Given the description of an element on the screen output the (x, y) to click on. 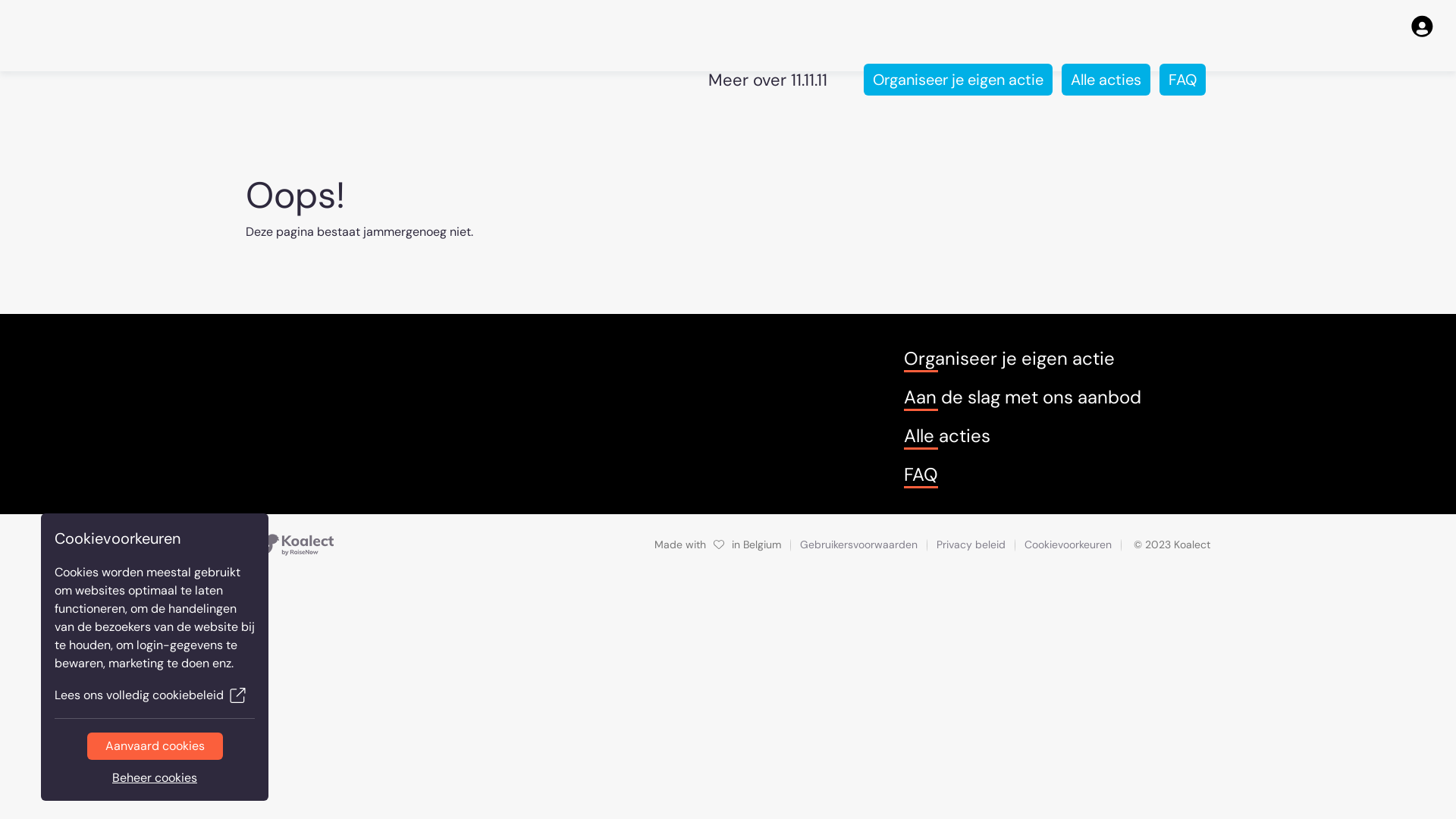
Gebruikersvoorwaarden Element type: text (858, 544)
Organiseer je eigen actie Element type: text (957, 79)
Privacy beleid Element type: text (970, 544)
Organiseer je eigen actie Element type: text (1008, 358)
FAQ Element type: text (1182, 79)
Meer over 11.11.11 Element type: text (767, 79)
Beheer cookies Element type: text (154, 777)
FAQ Element type: text (920, 474)
Aan de slag met ons aanbod Element type: text (1022, 397)
Alle acties Element type: text (1105, 79)
Alle acties Element type: text (946, 435)
Lees ons volledig cookiebeleid Element type: text (154, 695)
Cookievoorkeuren Element type: text (1067, 544)
Aanvaard cookies Element type: text (154, 745)
